Given the description of an element on the screen output the (x, y) to click on. 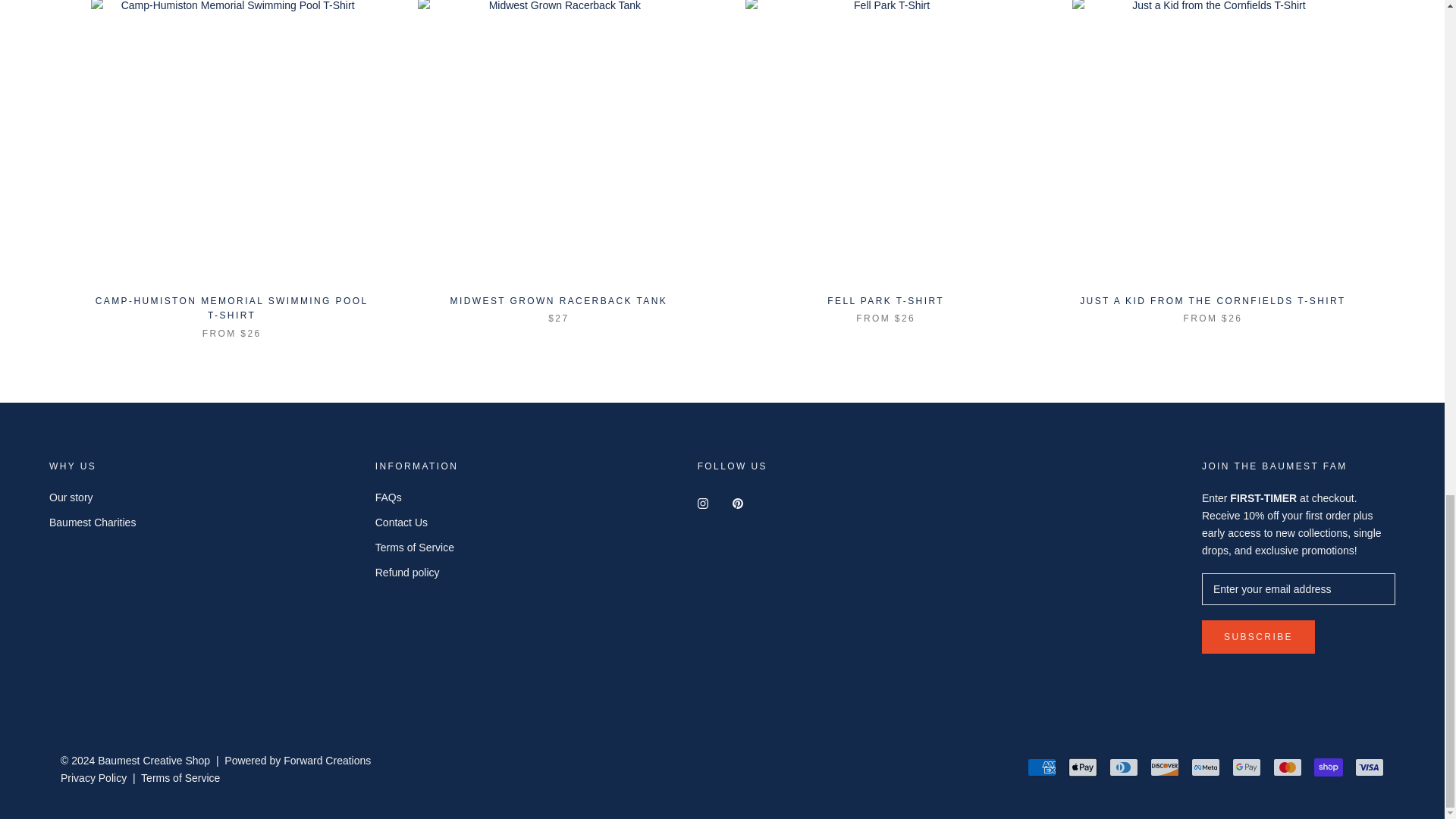
Diners Club (1123, 767)
Apple Pay (1082, 767)
Discover (1164, 767)
American Express (1042, 767)
Google Pay (1245, 767)
Meta Pay (1205, 767)
Mastercard (1286, 767)
Shop Pay (1328, 767)
